Given the description of an element on the screen output the (x, y) to click on. 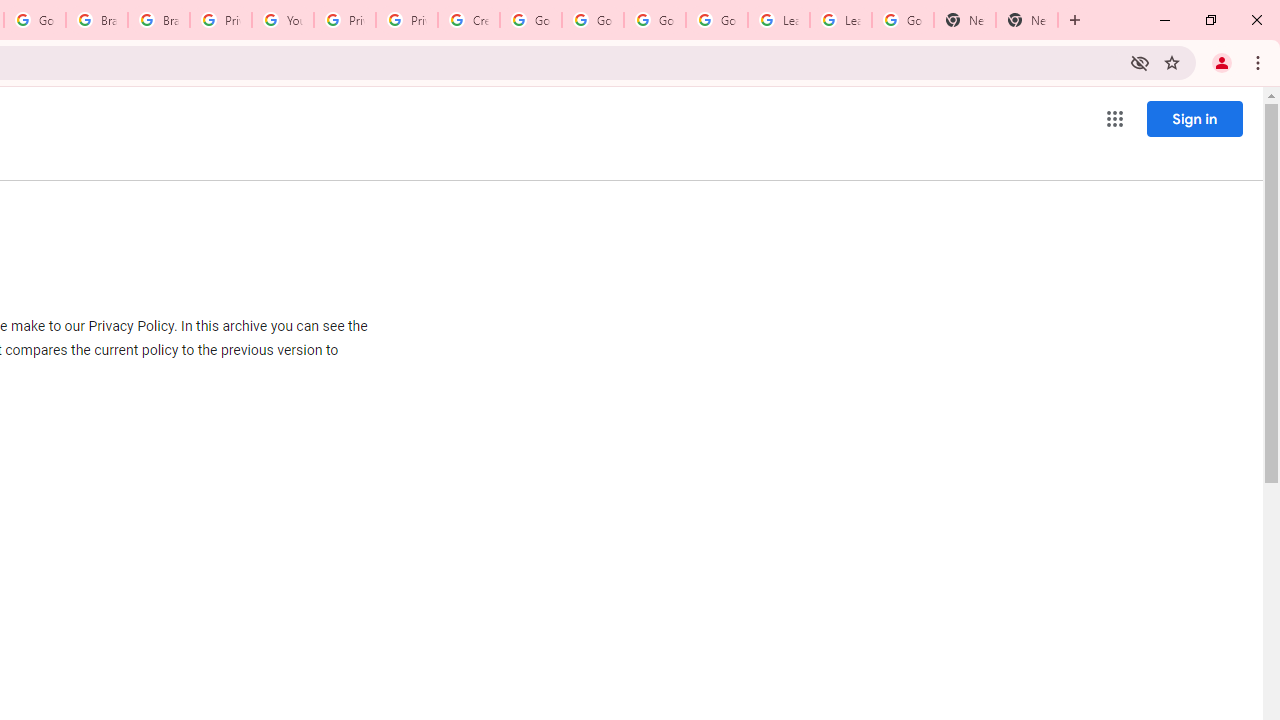
Google Account Help (592, 20)
YouTube (282, 20)
